Given the description of an element on the screen output the (x, y) to click on. 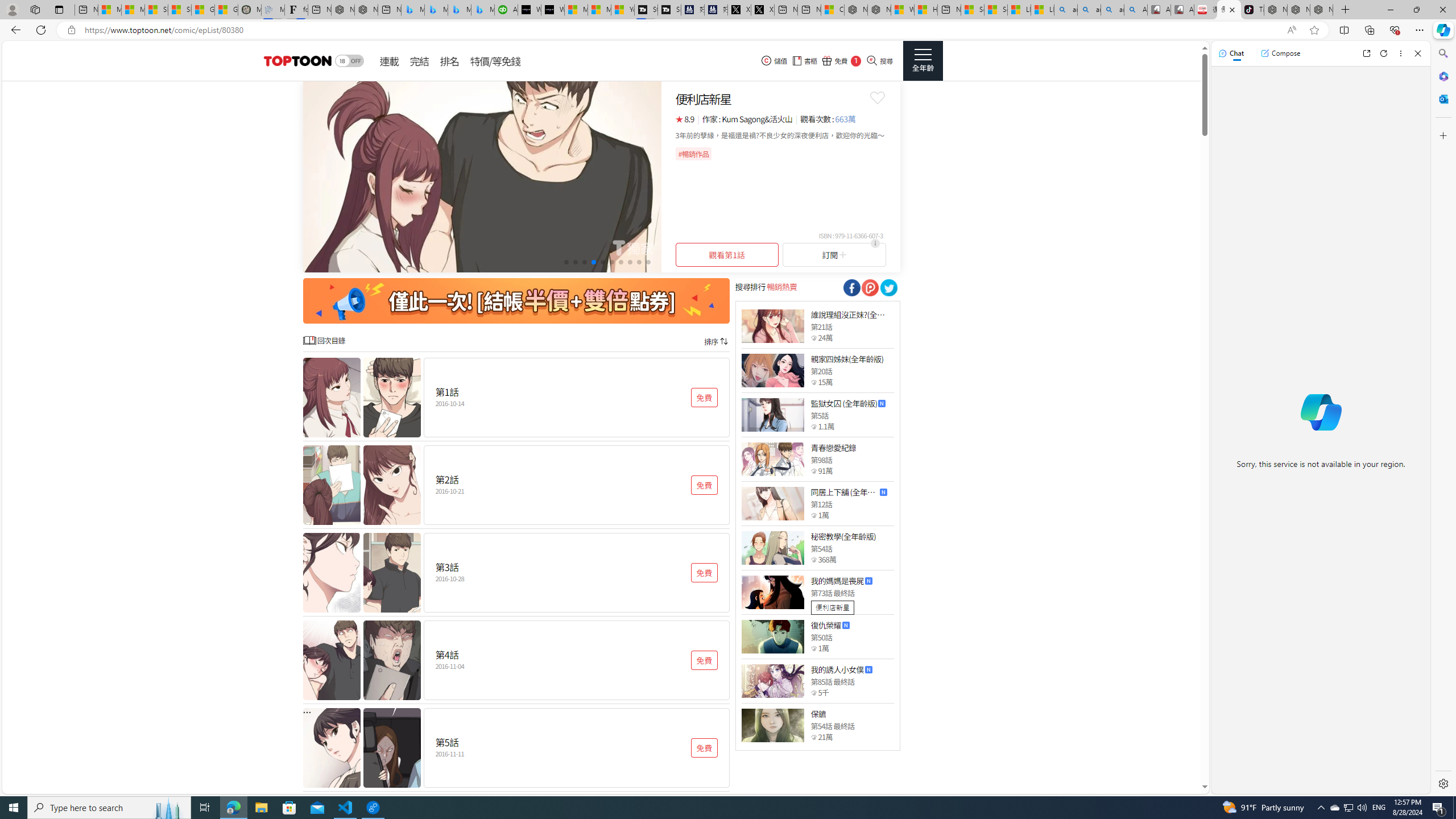
Nordace Siena Pro 15 Backpack (1298, 9)
Class: swiper-slide swiper-slide-active (481, 176)
amazon - Search Images (1112, 9)
